Given the description of an element on the screen output the (x, y) to click on. 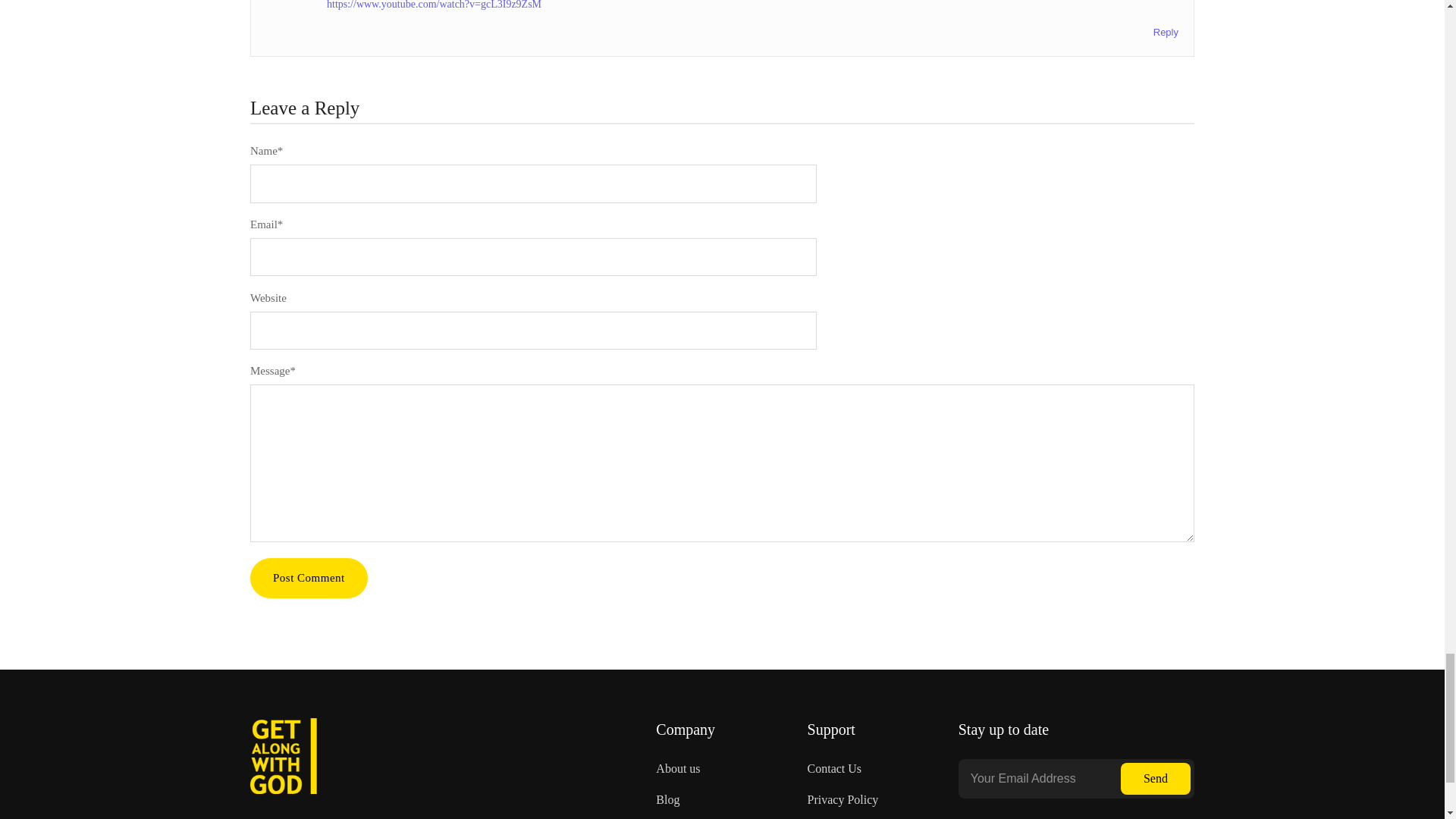
Post Comment (309, 577)
Send (1156, 778)
